Given the description of an element on the screen output the (x, y) to click on. 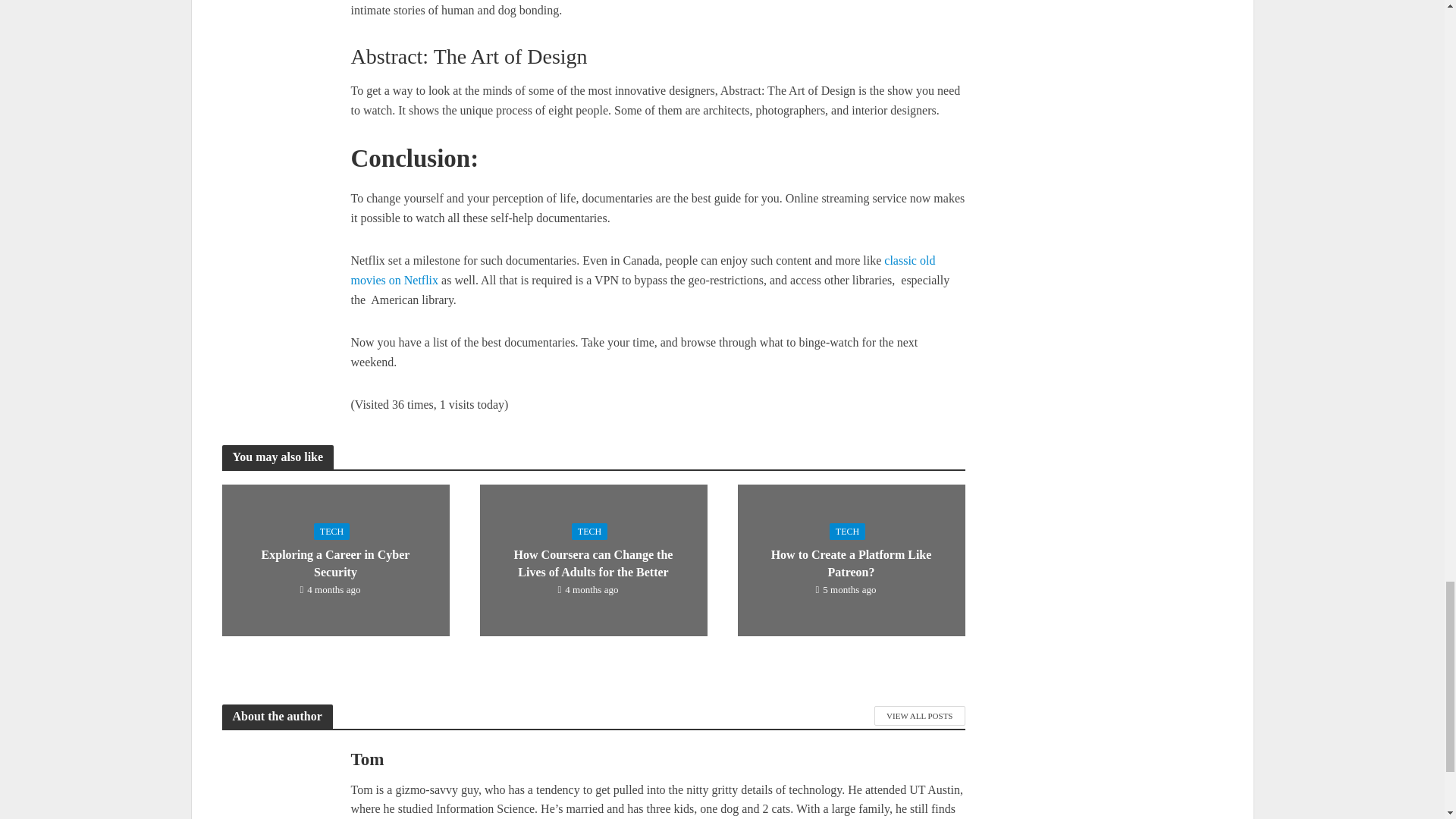
Exploring a Career in Cyber Security (334, 558)
How to Create a Platform Like Patreon? (849, 558)
How Coursera can Change the Lives of Adults for the Better (592, 558)
